Given the description of an element on the screen output the (x, y) to click on. 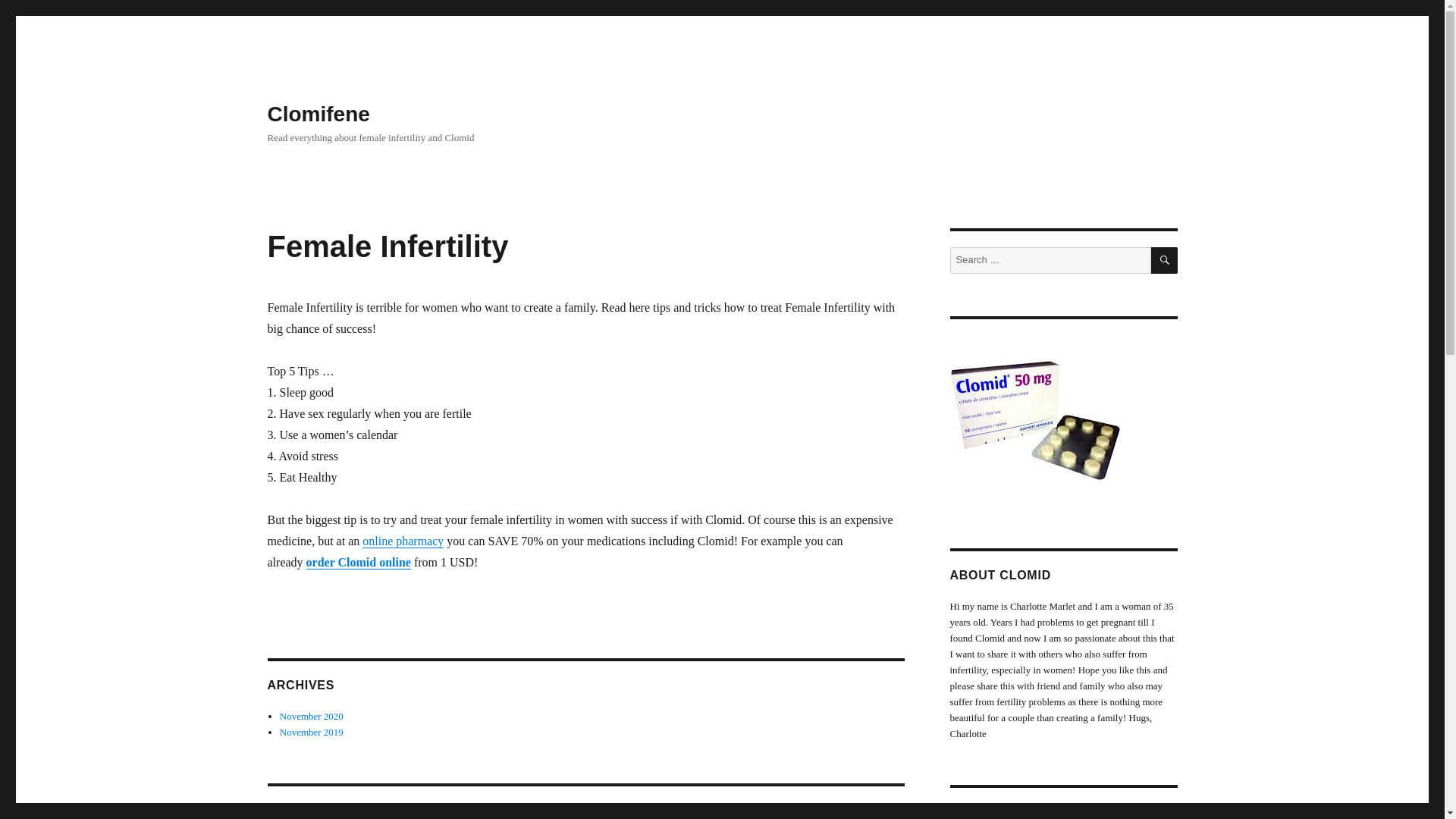
November 2020 (311, 715)
online pharmacy (403, 540)
order Clomid online (357, 562)
SEARCH (1164, 260)
Clomid (1034, 420)
Clomifene (317, 114)
November 2019 (311, 731)
